Given the description of an element on the screen output the (x, y) to click on. 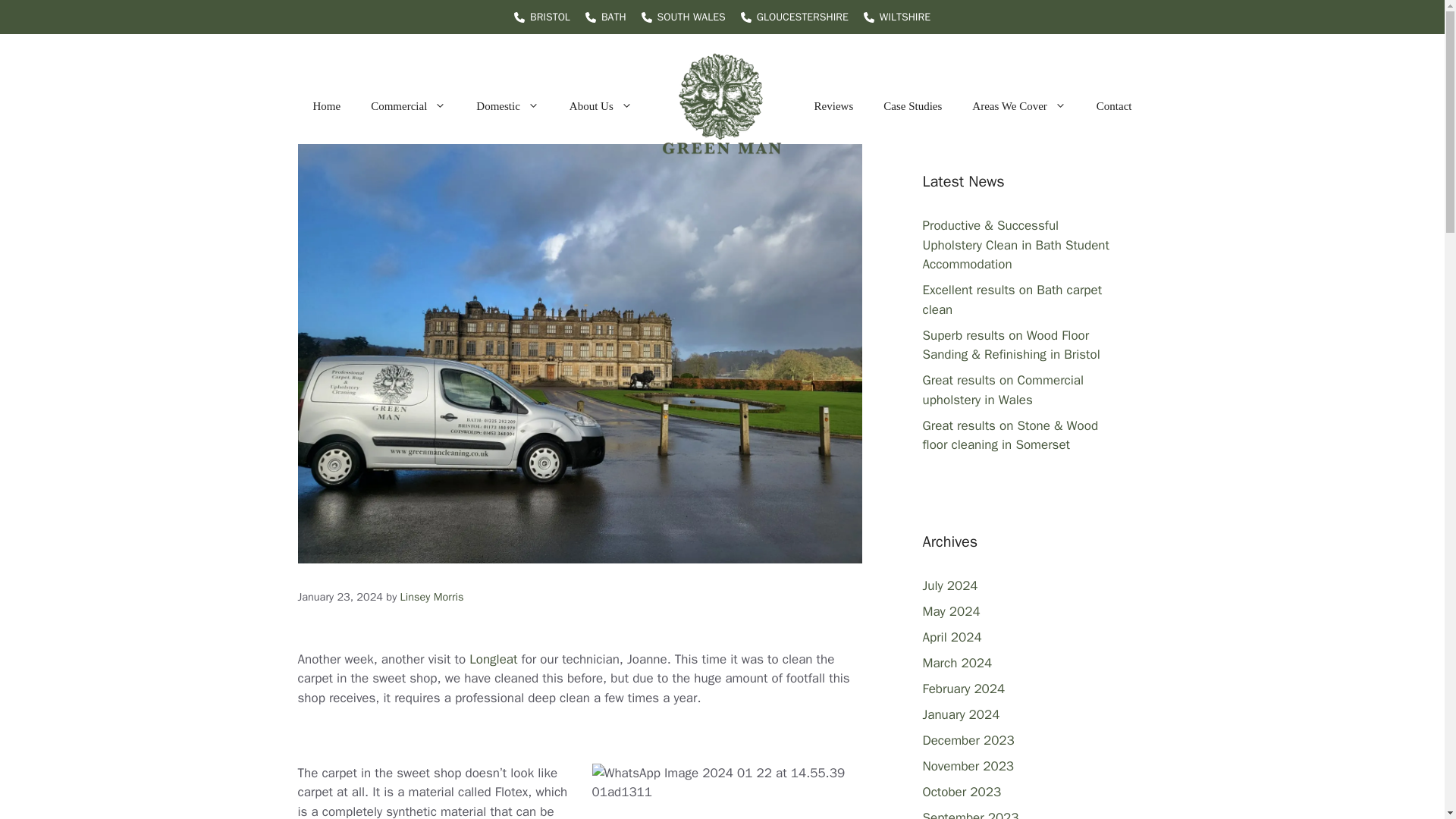
BATH (613, 16)
View all posts by Linsey Morris (432, 596)
SOUTH WALES (691, 16)
Home (326, 105)
GLOUCESTER (788, 16)
BRISTOL (549, 16)
Commercial (408, 105)
ILTSHIRE (909, 16)
Domestic (507, 105)
Successful Commercial carpet clean at Longleat 2 (726, 782)
